Given the description of an element on the screen output the (x, y) to click on. 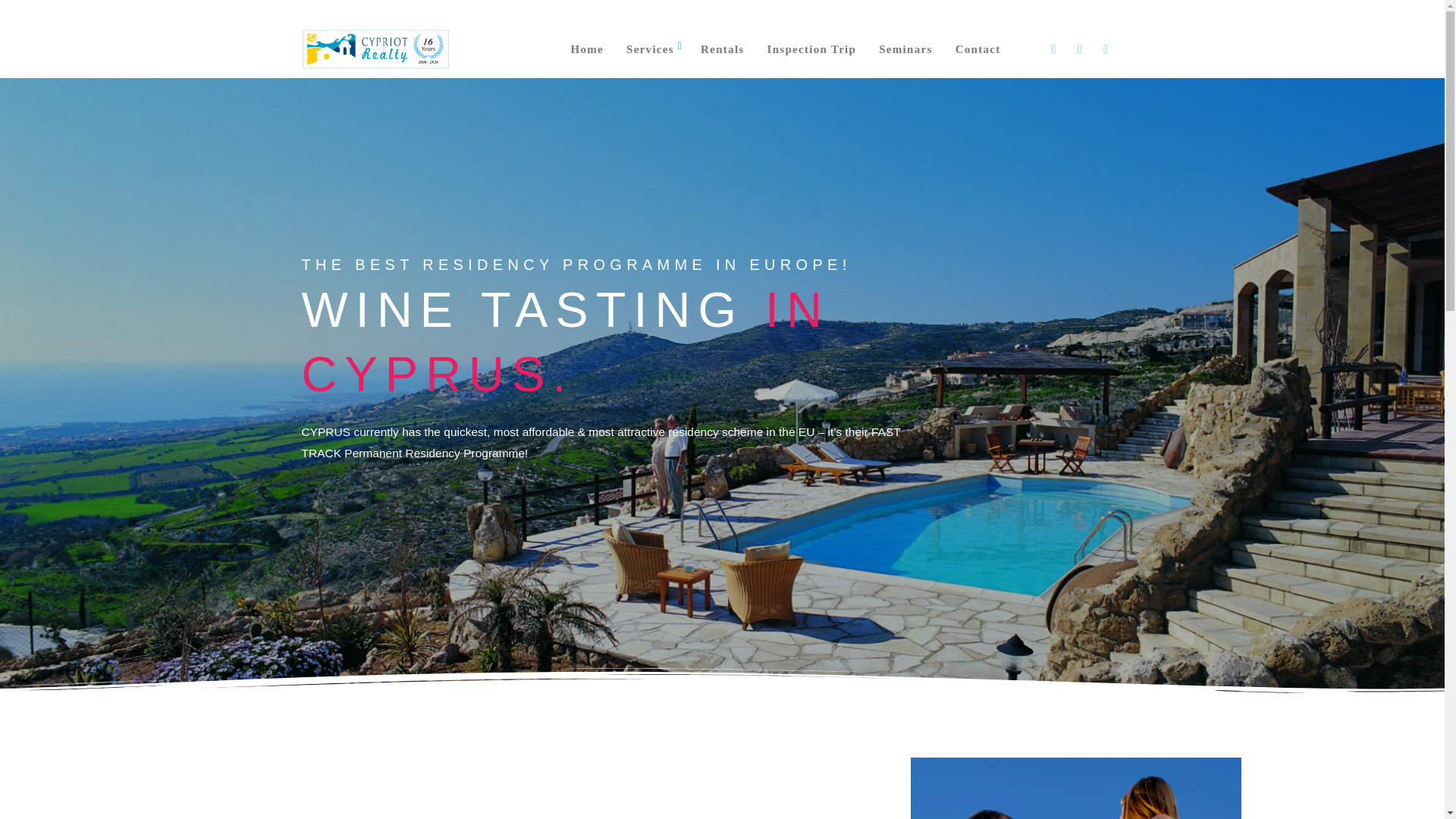
Contact (977, 49)
Seminars (905, 49)
Inspection Trip (811, 49)
Services (649, 49)
Home (587, 49)
Rentals (721, 49)
